Given the description of an element on the screen output the (x, y) to click on. 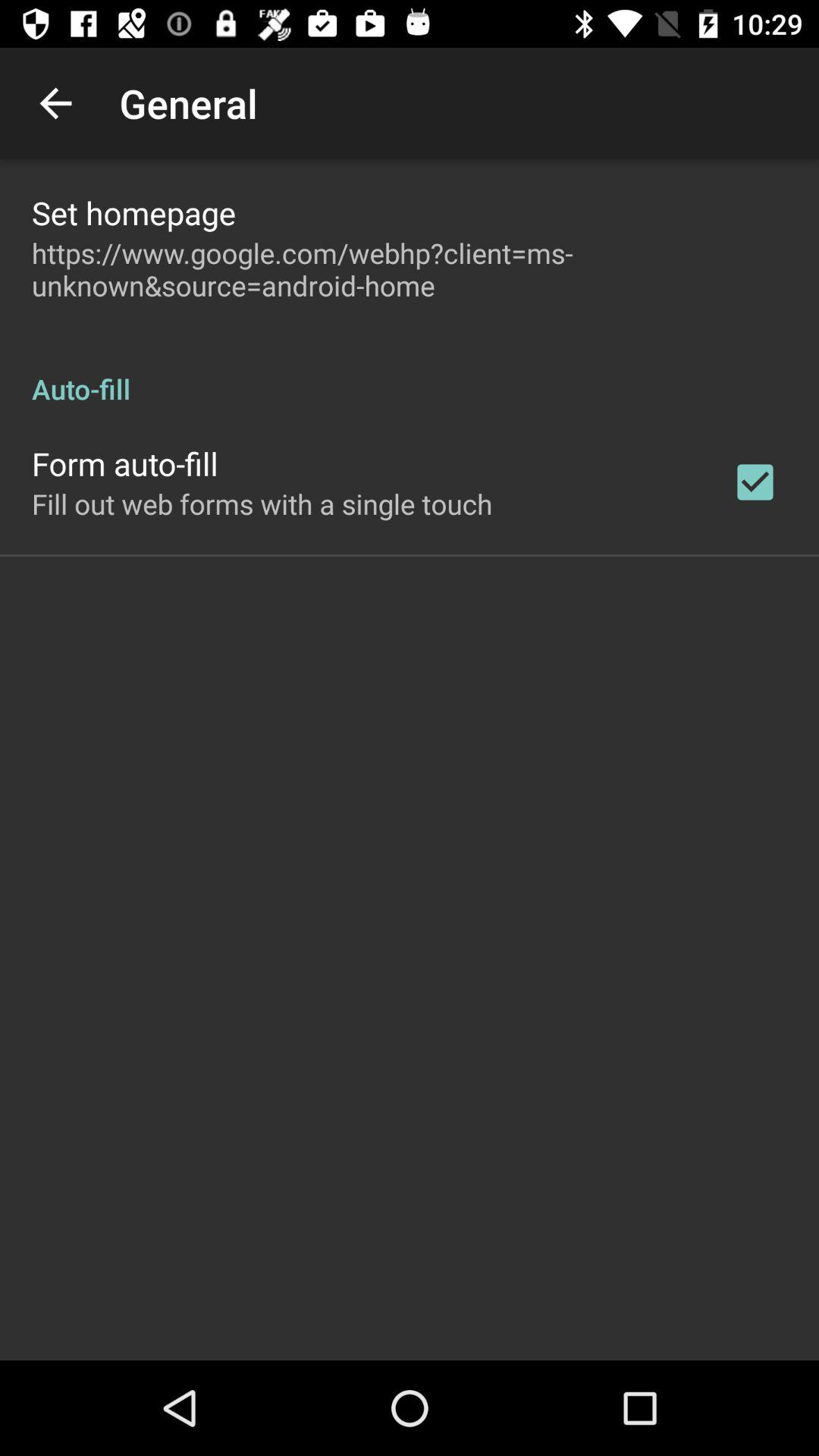
swipe until https www google item (409, 269)
